Given the description of an element on the screen output the (x, y) to click on. 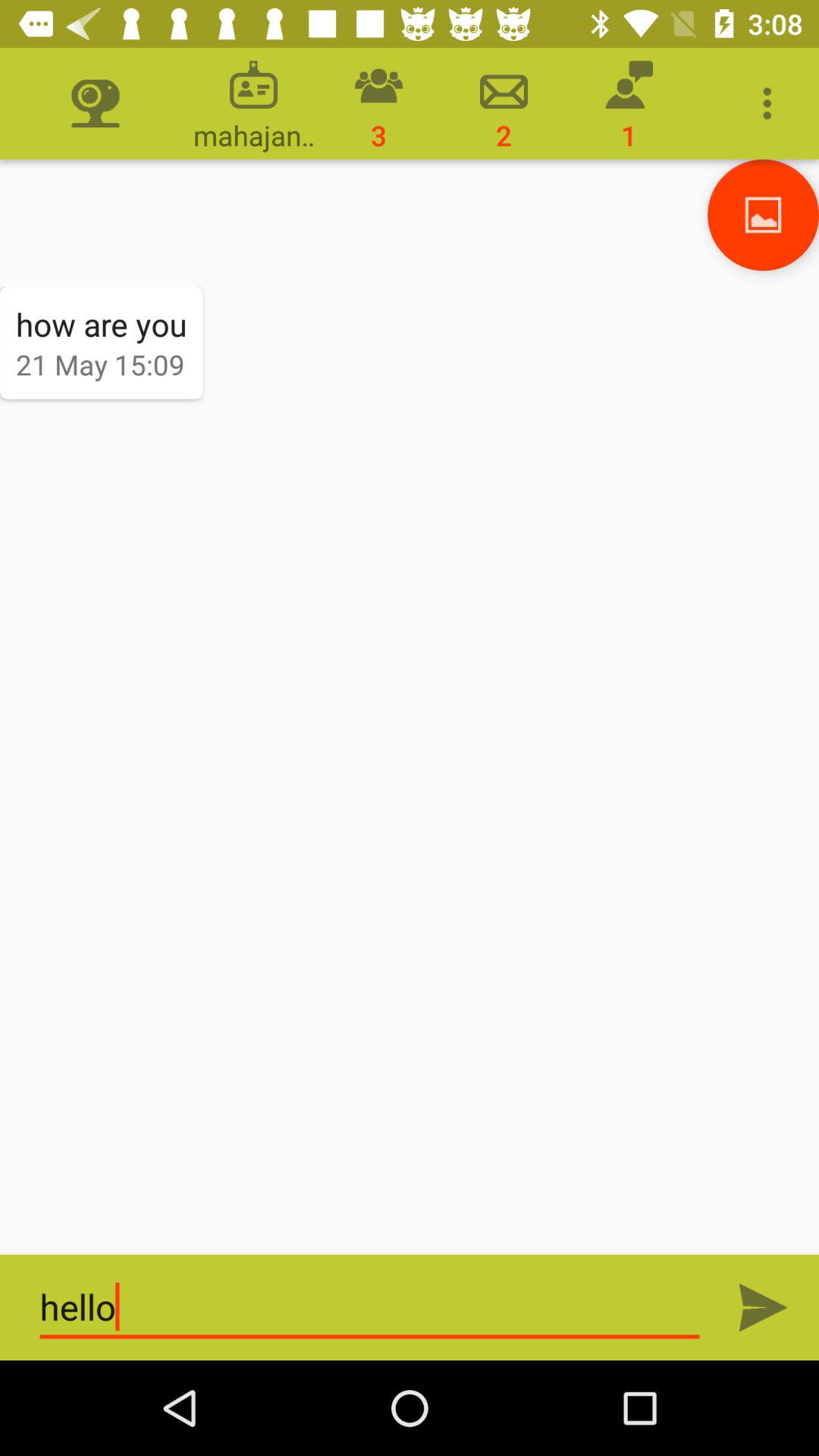
go to all (763, 1307)
